Given the description of an element on the screen output the (x, y) to click on. 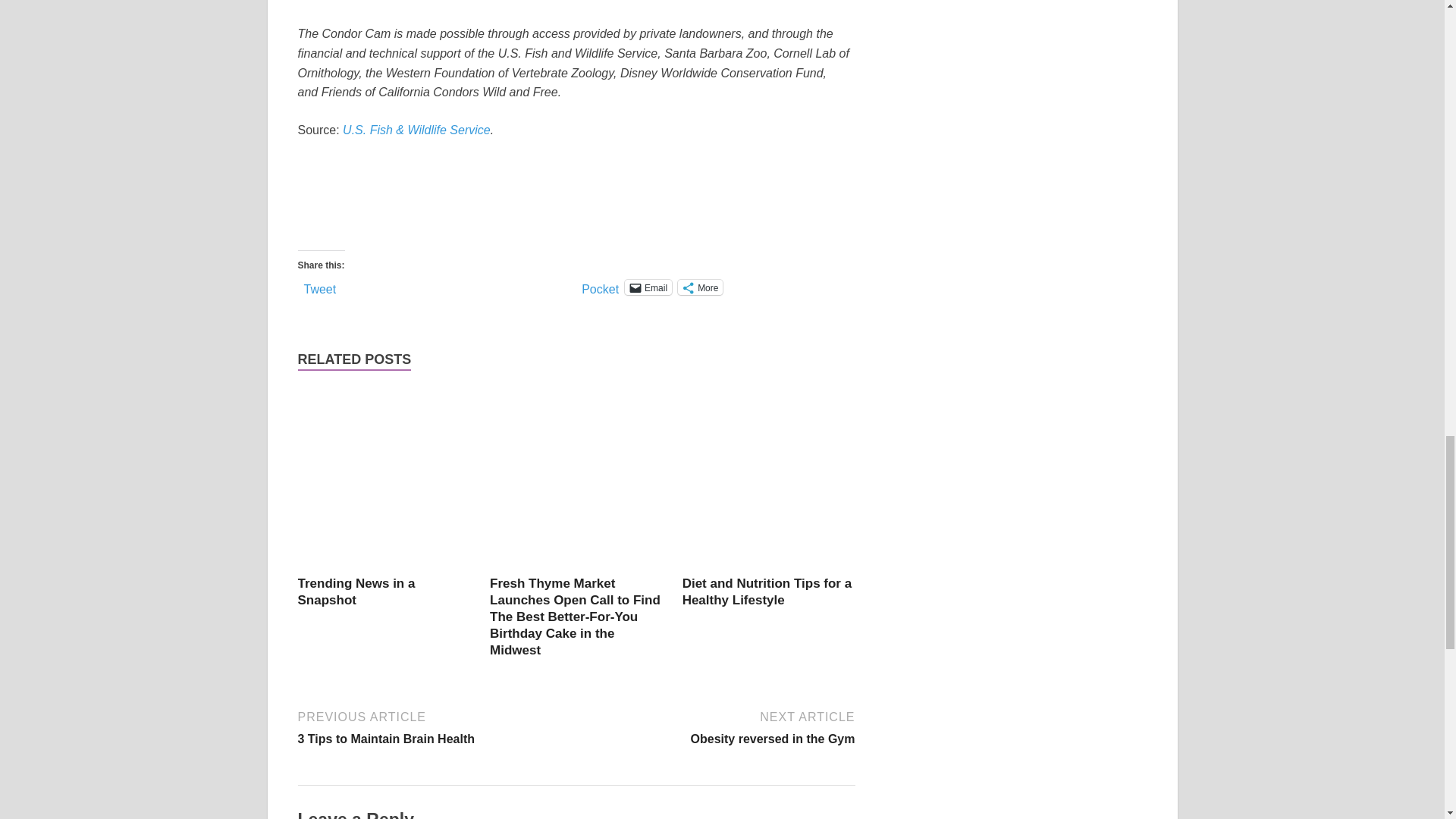
Pocket (599, 288)
Diet and Nutrition Tips for a Healthy Lifestyle (766, 591)
Diet and Nutrition Tips for a Healthy Lifestyle (769, 565)
Trending News in a Snapshot (355, 591)
MB Fathers728x90 (717, 726)
Trending News in a Snapshot (572, 192)
